Given the description of an element on the screen output the (x, y) to click on. 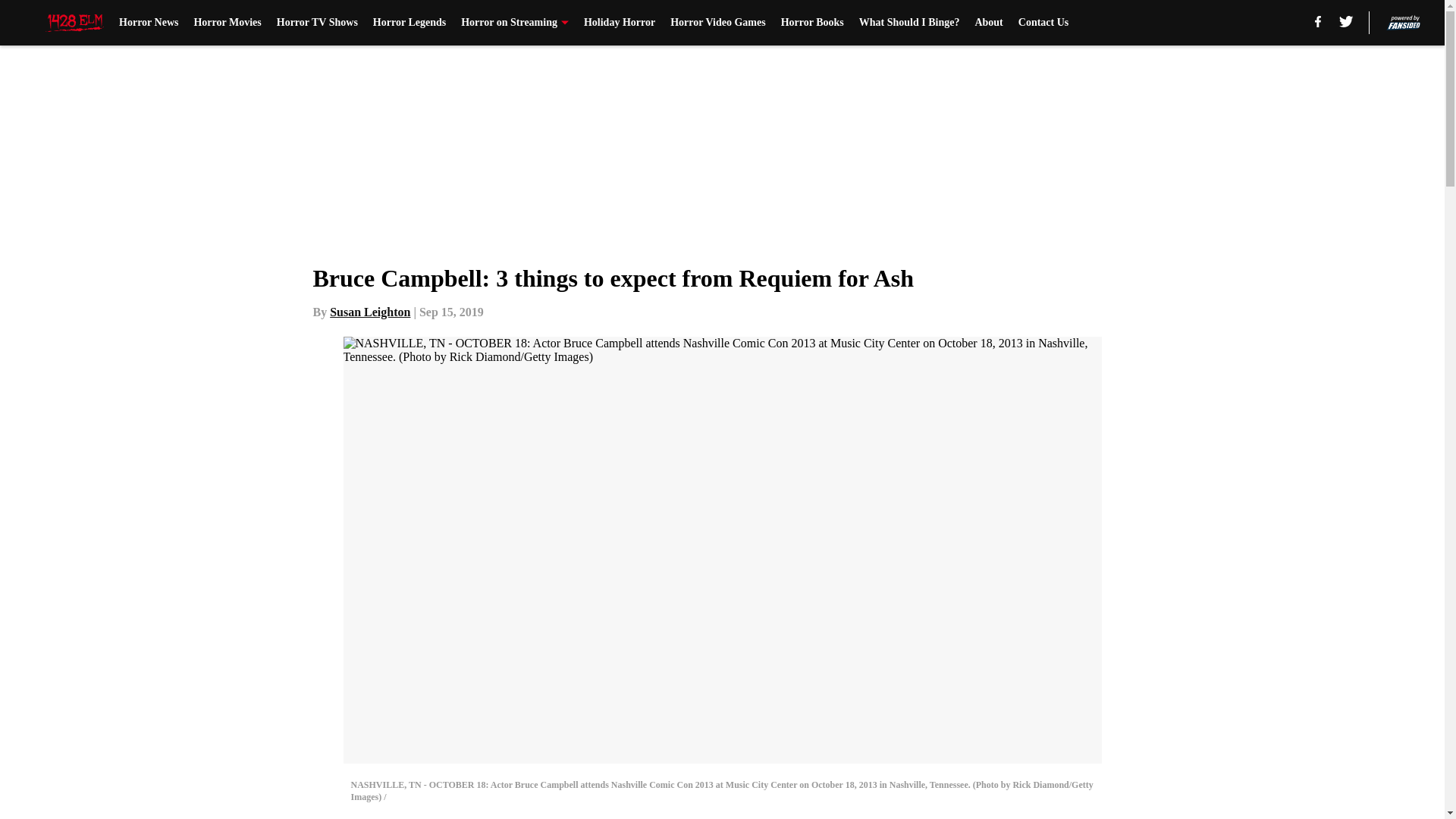
Horror Video Games (717, 22)
What Should I Binge? (909, 22)
Horror Legends (408, 22)
Horror on Streaming (515, 22)
Horror News (148, 22)
Horror Books (812, 22)
Susan Leighton (370, 311)
Horror Movies (226, 22)
Horror TV Shows (317, 22)
Contact Us (1042, 22)
About (988, 22)
Holiday Horror (619, 22)
